Given the description of an element on the screen output the (x, y) to click on. 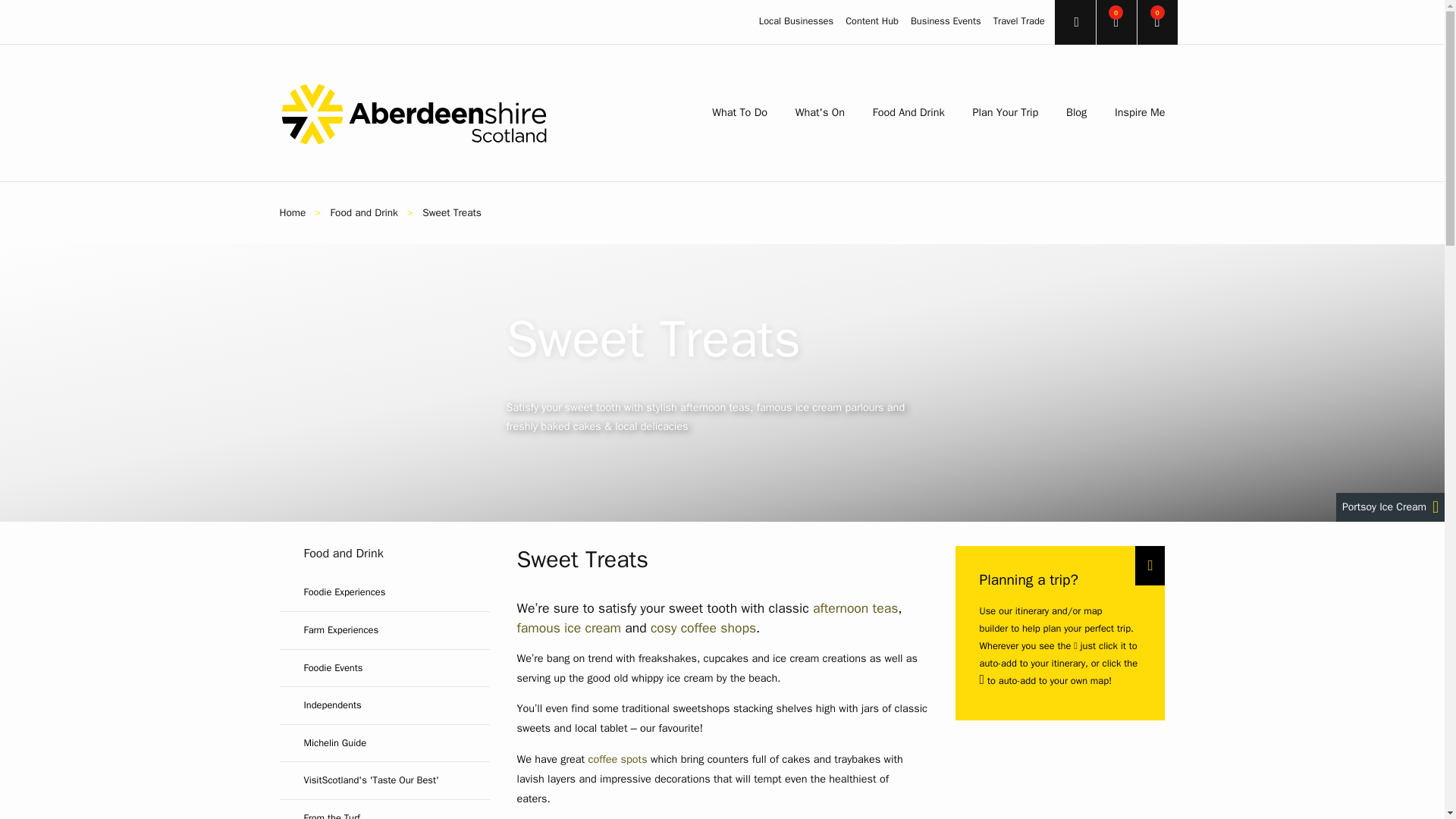
Local Businesses (795, 21)
Content Hub (871, 21)
Travel Trade (1018, 21)
Business Events (946, 21)
